Given the description of an element on the screen output the (x, y) to click on. 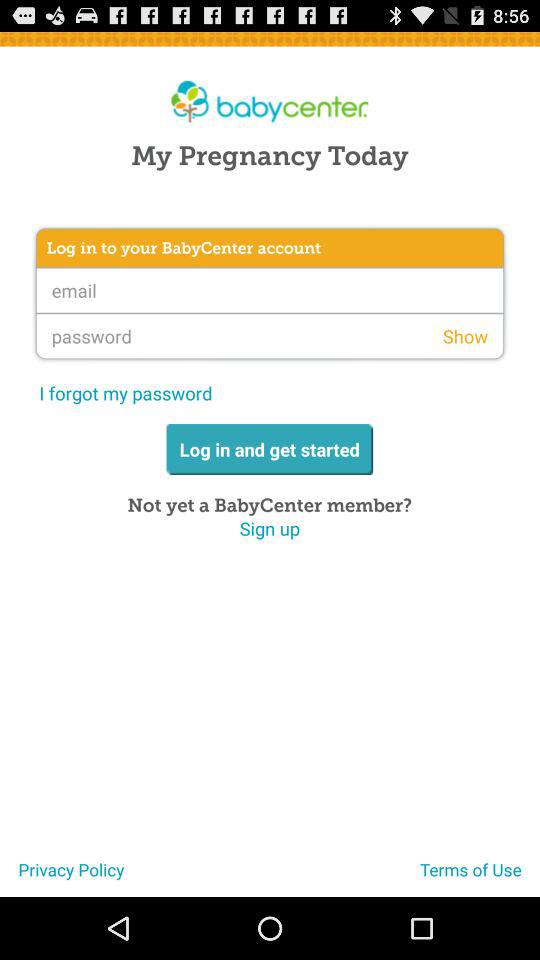
scroll to the show app (465, 335)
